Given the description of an element on the screen output the (x, y) to click on. 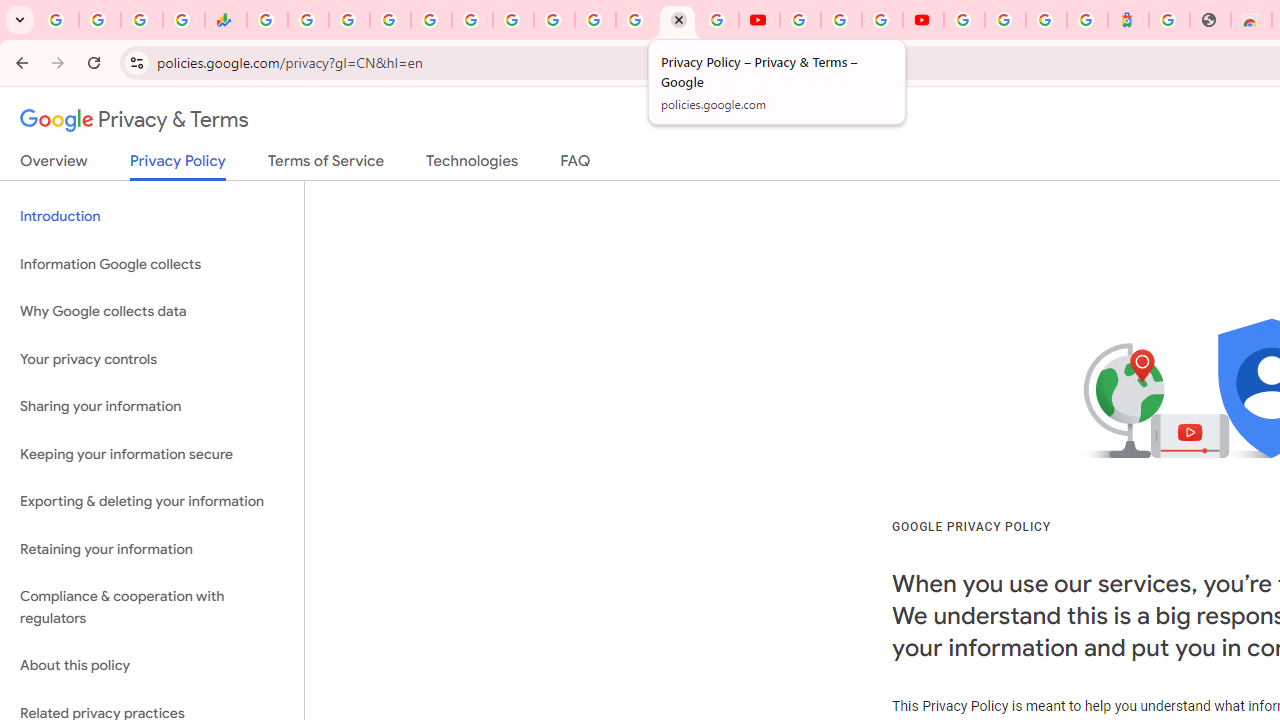
Terms of Service (326, 165)
About this policy (152, 666)
Google Workspace Admin Community (58, 20)
Compliance & cooperation with regulators (152, 607)
Atour Hotel - Google hotels (1128, 20)
Android TV Policies and Guidelines - Transparency Center (512, 20)
Exporting & deleting your information (152, 502)
Your privacy controls (152, 358)
